Given the description of an element on the screen output the (x, y) to click on. 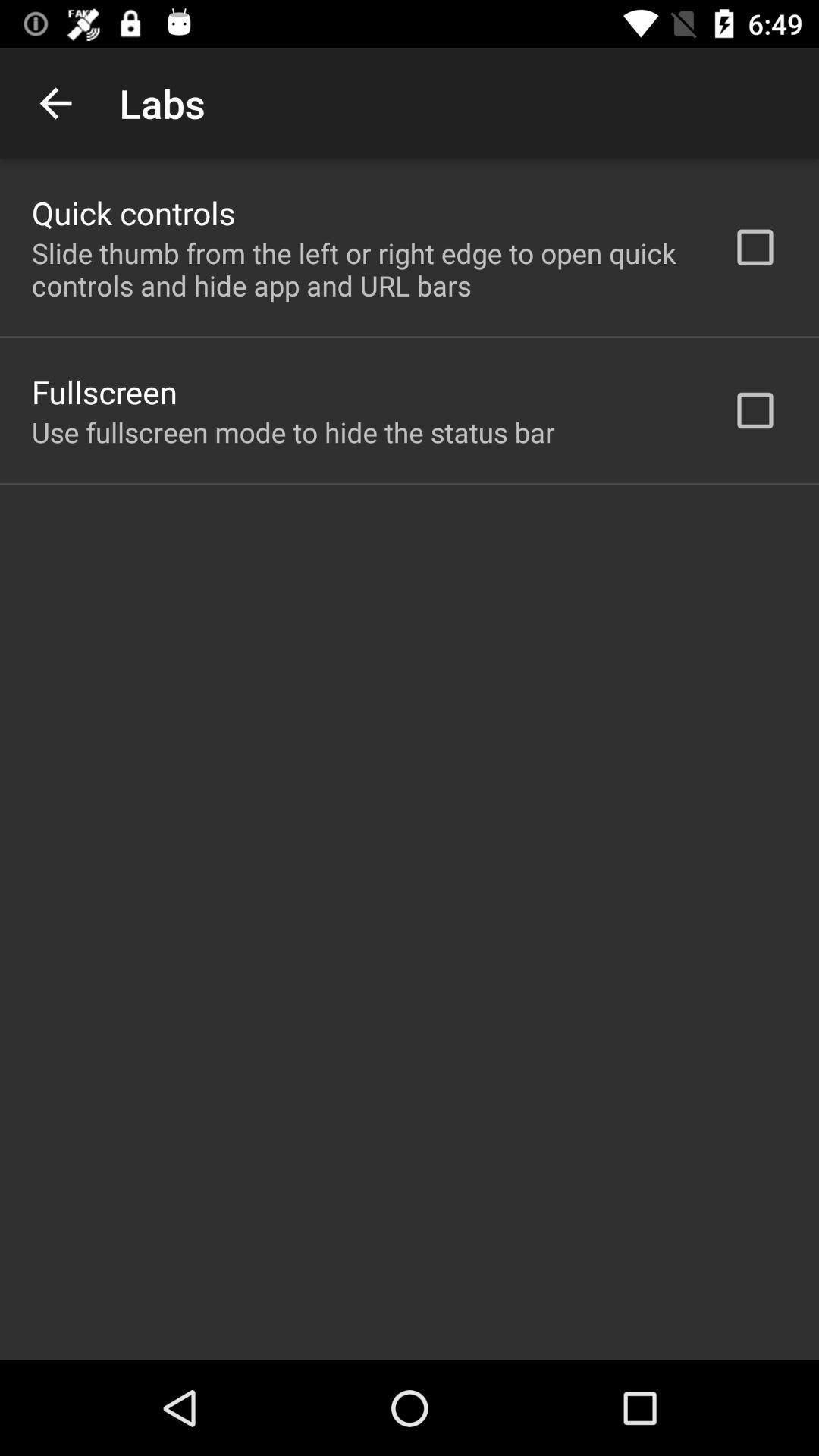
turn off use fullscreen mode app (293, 432)
